Given the description of an element on the screen output the (x, y) to click on. 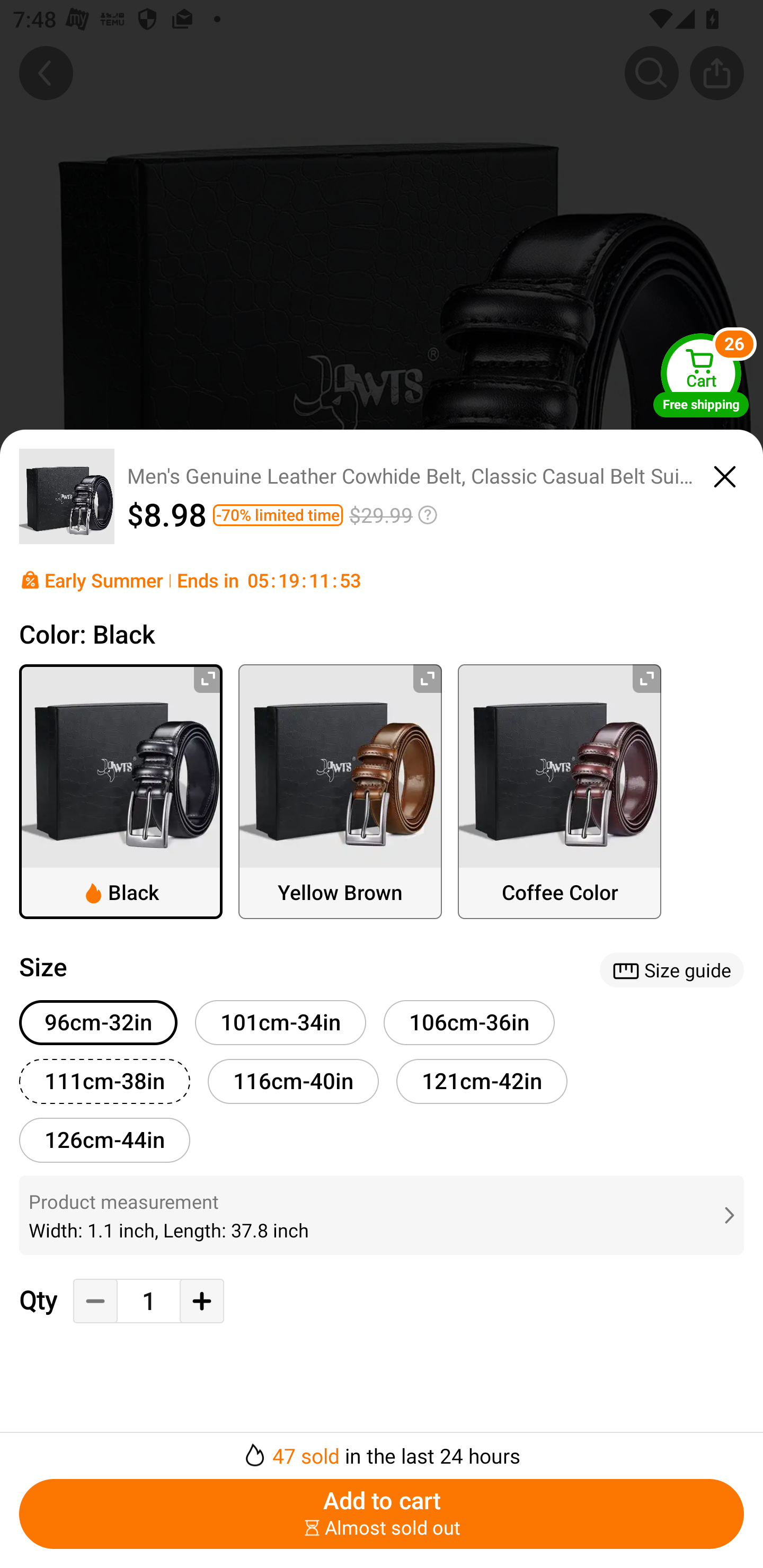
Cart Free shipping Cart (701, 375)
close (724, 474)
Black ￼Black (120, 791)
Yellow Brown (339, 791)
Coffee Color (559, 791)
￼Size guide (671, 969)
 96cm-32in (98, 1022)
 101cm-34in (280, 1022)
 106cm-36in (468, 1022)
 111cm-38in (104, 1080)
 116cm-40in (293, 1080)
 121cm-42in (481, 1080)
 126cm-44in (104, 1140)
Decrease Quantity Button (95, 1301)
Add Quantity Button (201, 1301)
1 (148, 1301)
￼￼47 sold in the last 24 hours (381, 1450)
Add to cart ￼￼Almost sold out (381, 1513)
